Given the description of an element on the screen output the (x, y) to click on. 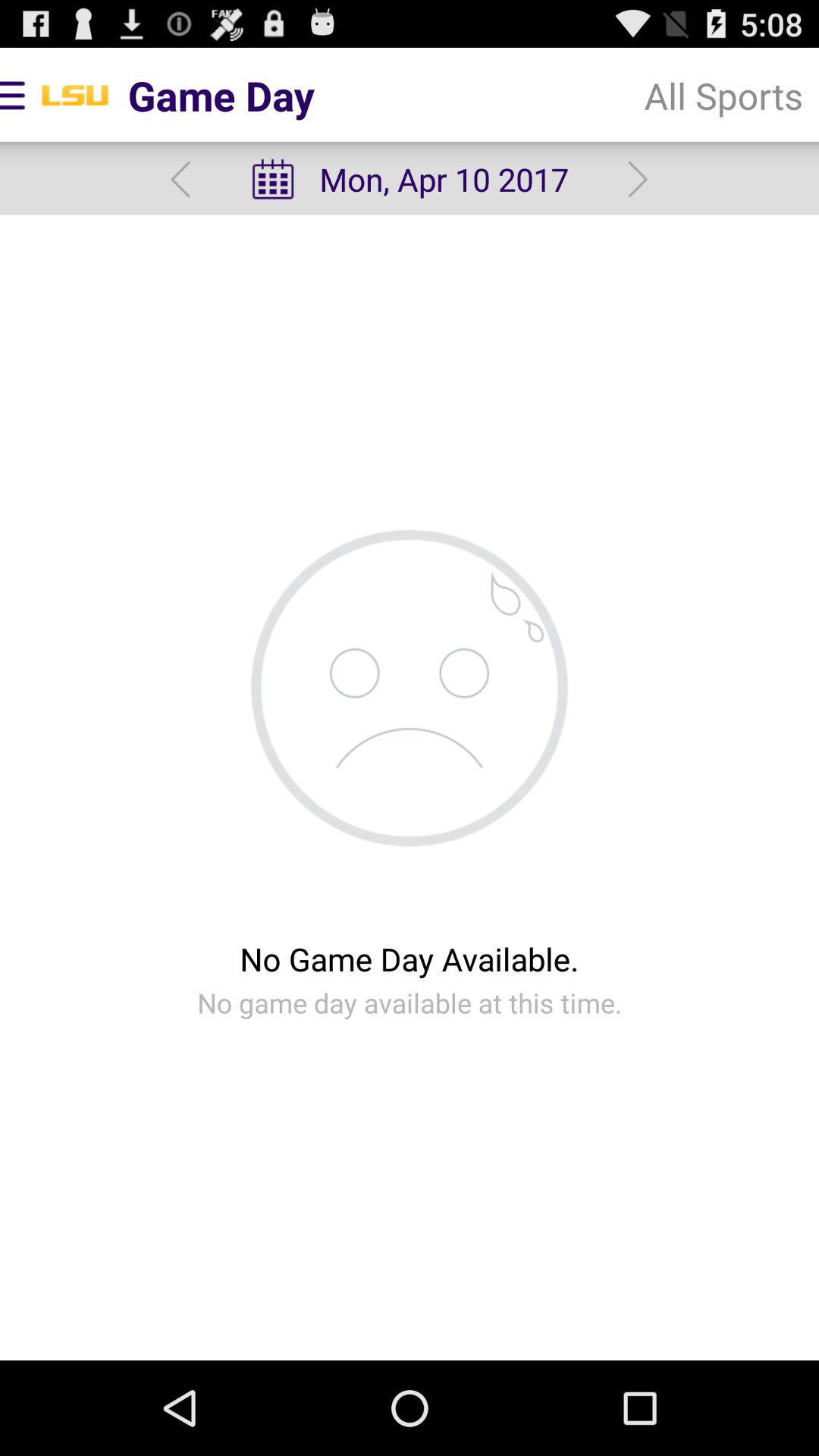
go back (180, 178)
